Given the description of an element on the screen output the (x, y) to click on. 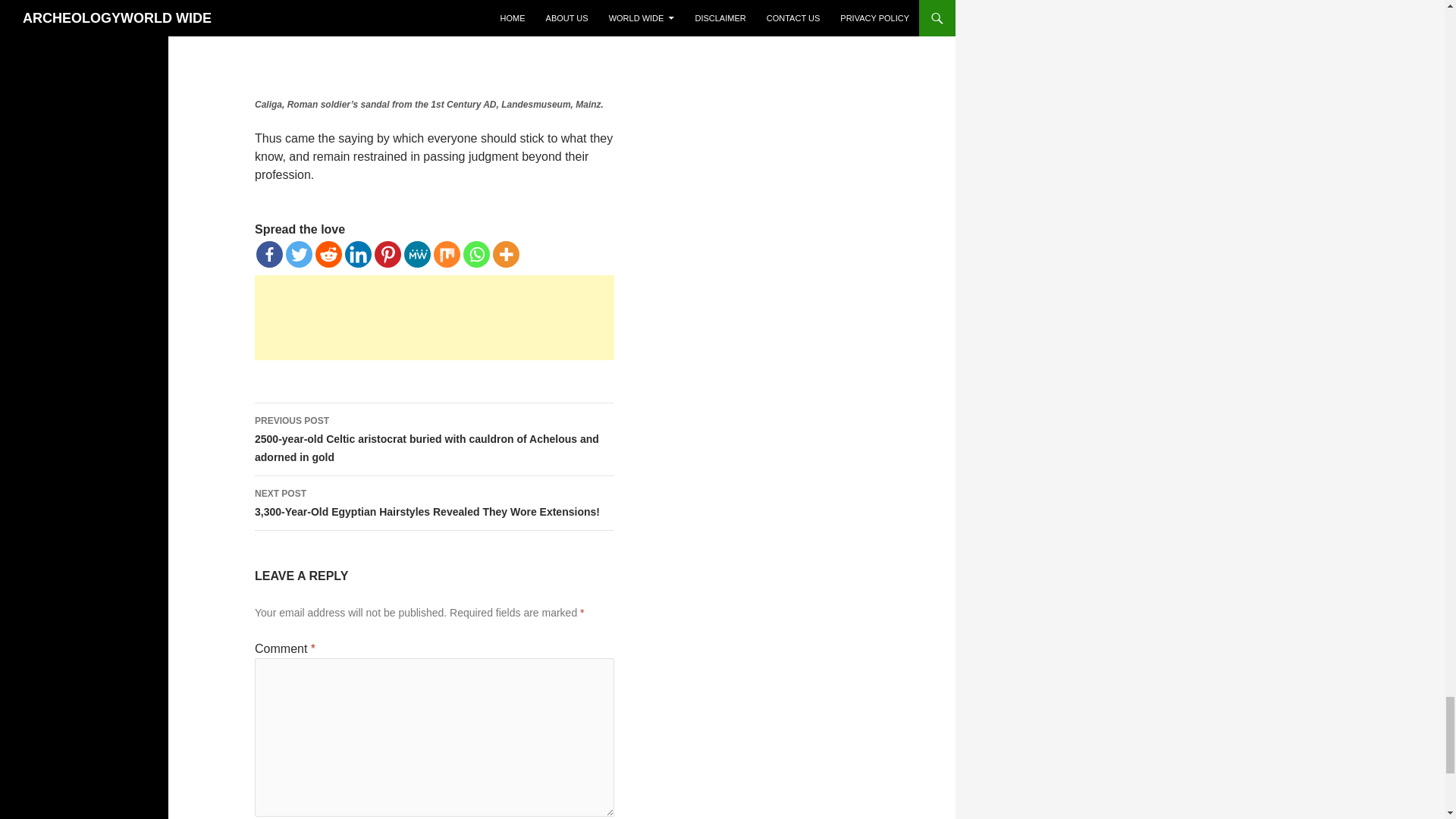
Pinterest (387, 253)
Facebook (269, 253)
MeWe (417, 253)
Reddit (328, 253)
Mix (446, 253)
Linkedin (358, 253)
Twitter (299, 253)
